Given the description of an element on the screen output the (x, y) to click on. 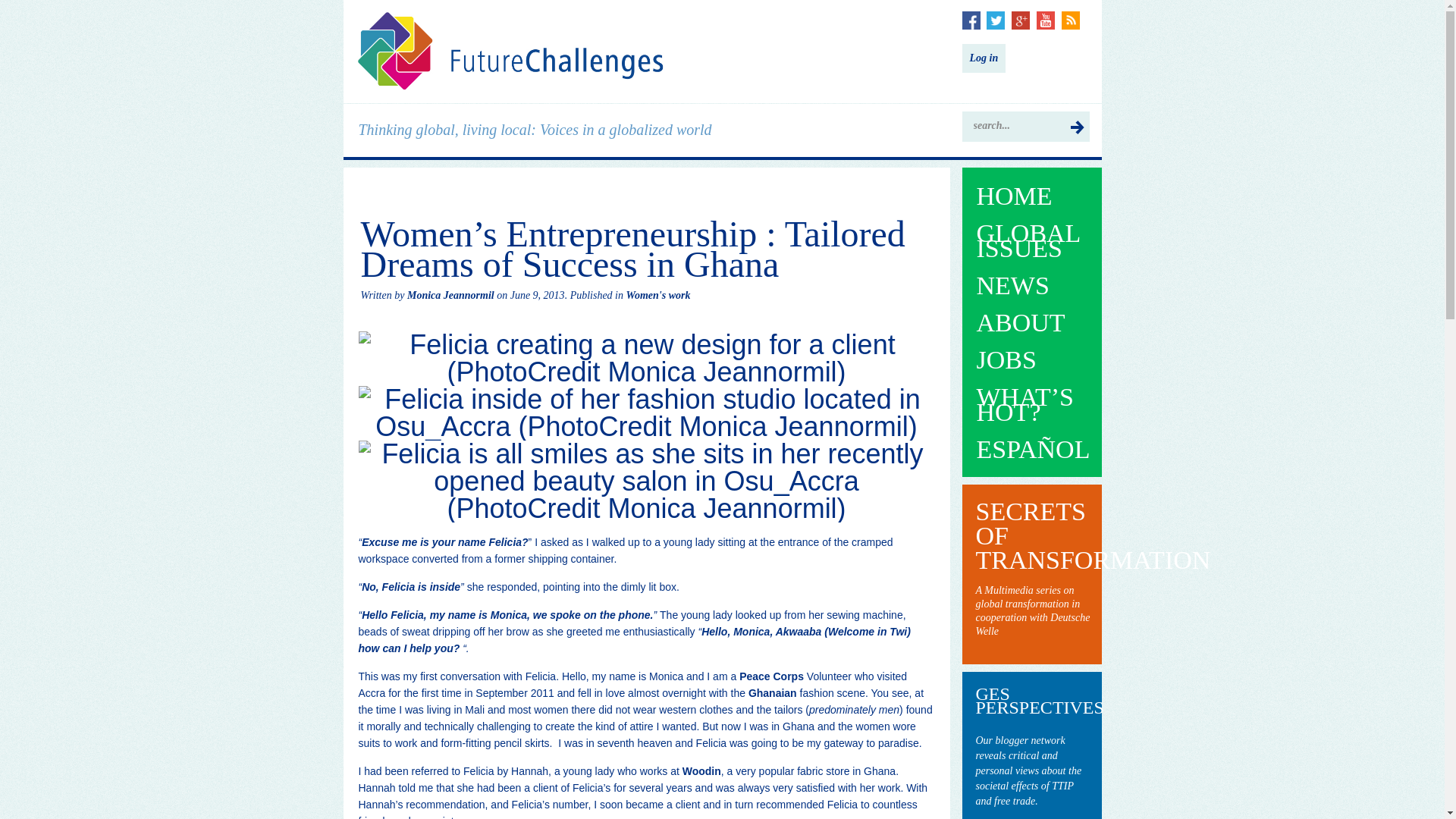
Ghana (772, 693)
Twitter (995, 20)
Posts by Monica Jeannormil (451, 295)
Facebook (969, 20)
Subscribe to our Feed (1070, 20)
Log in (983, 58)
Ghanaian (772, 693)
Reset (3, 2)
Women's work (658, 295)
Woodin (701, 770)
